Given the description of an element on the screen output the (x, y) to click on. 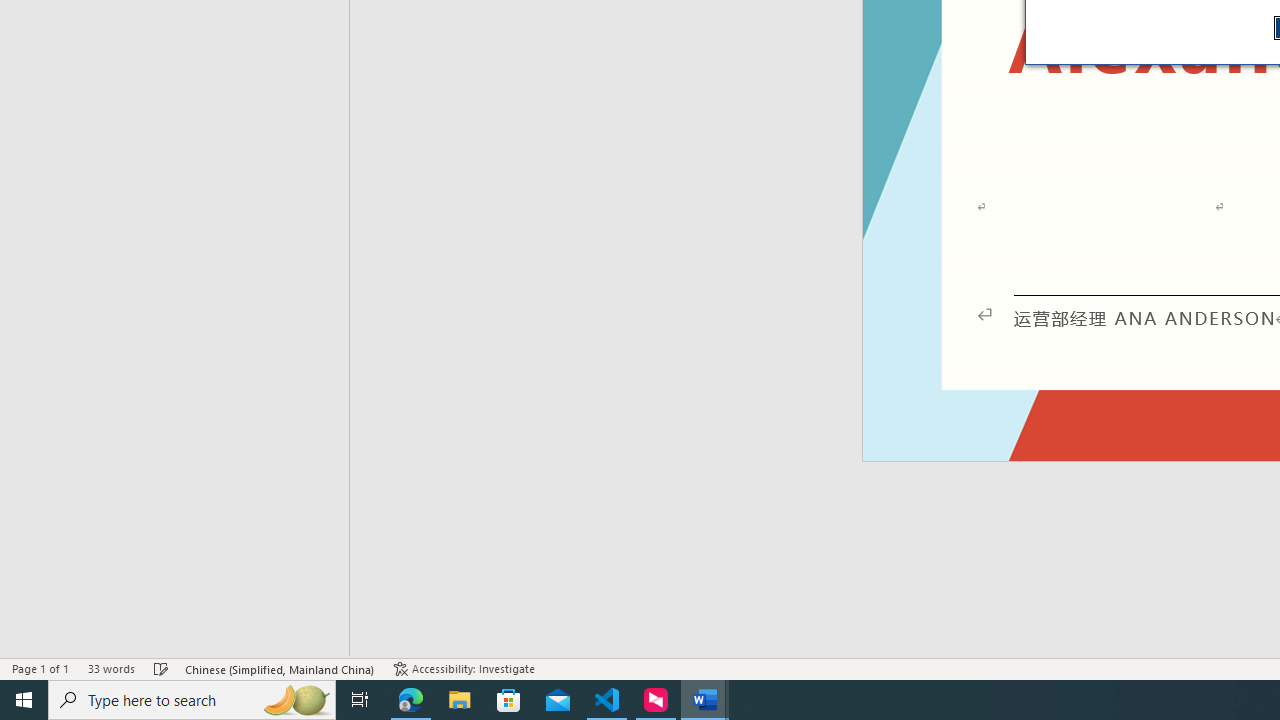
Type here to search (191, 699)
Task View (359, 699)
Page Number Page 1 of 1 (39, 668)
Visual Studio Code - 1 running window (607, 699)
Microsoft Edge - 1 running window (411, 699)
Microsoft Store (509, 699)
Start (24, 699)
Word - 2 running windows (704, 699)
Search highlights icon opens search home window (295, 699)
Spelling and Grammar Check Checking (161, 668)
File Explorer (460, 699)
Language Chinese (Simplified, Mainland China) (279, 668)
